Given the description of an element on the screen output the (x, y) to click on. 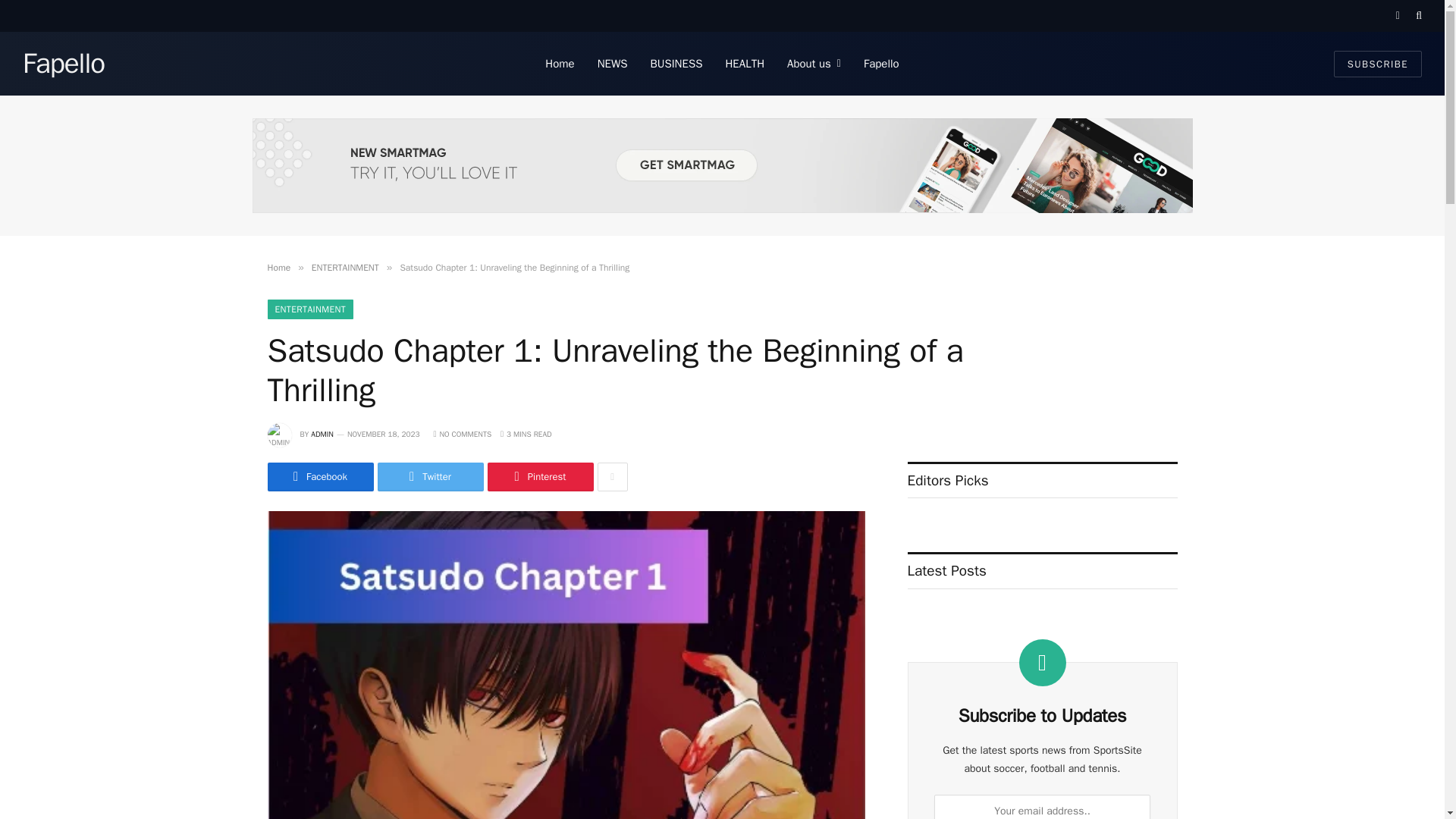
Fapello (63, 63)
Home (277, 267)
SUBSCRIBE (1377, 62)
Fapello (881, 63)
About us (813, 63)
Fapello (63, 63)
Switch to Dark Design - easier on eyes. (1397, 15)
HEALTH (744, 63)
Share on Facebook (319, 476)
BUSINESS (676, 63)
